Given the description of an element on the screen output the (x, y) to click on. 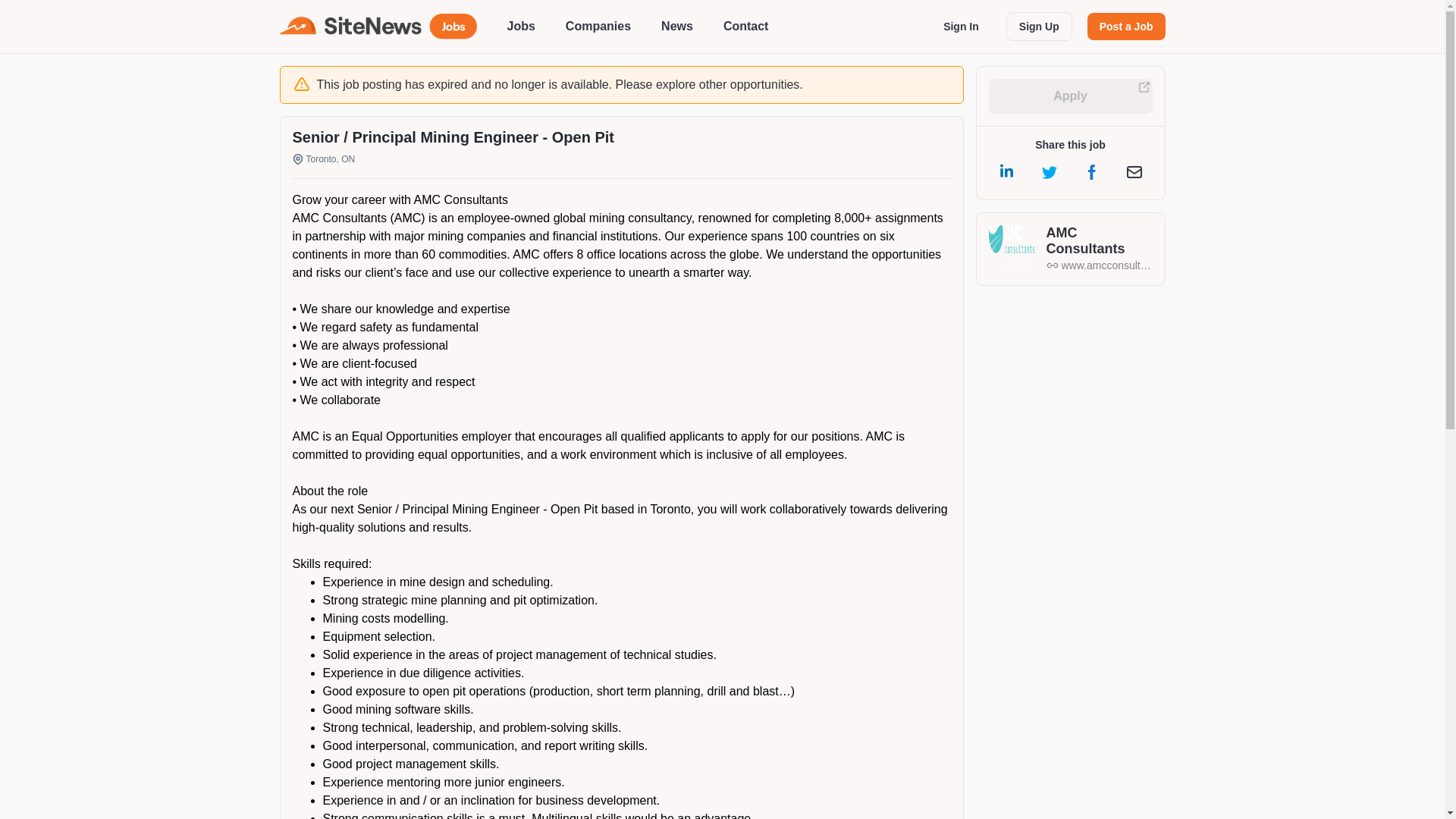
Post a Job (1126, 26)
Companies (598, 25)
Apply (1070, 95)
www.amcconsultants.com (1099, 265)
Sign In (961, 26)
Jobs (520, 25)
Sign Up (1038, 26)
News (677, 25)
Contact (745, 25)
AMC Consultants (1099, 240)
